Given the description of an element on the screen output the (x, y) to click on. 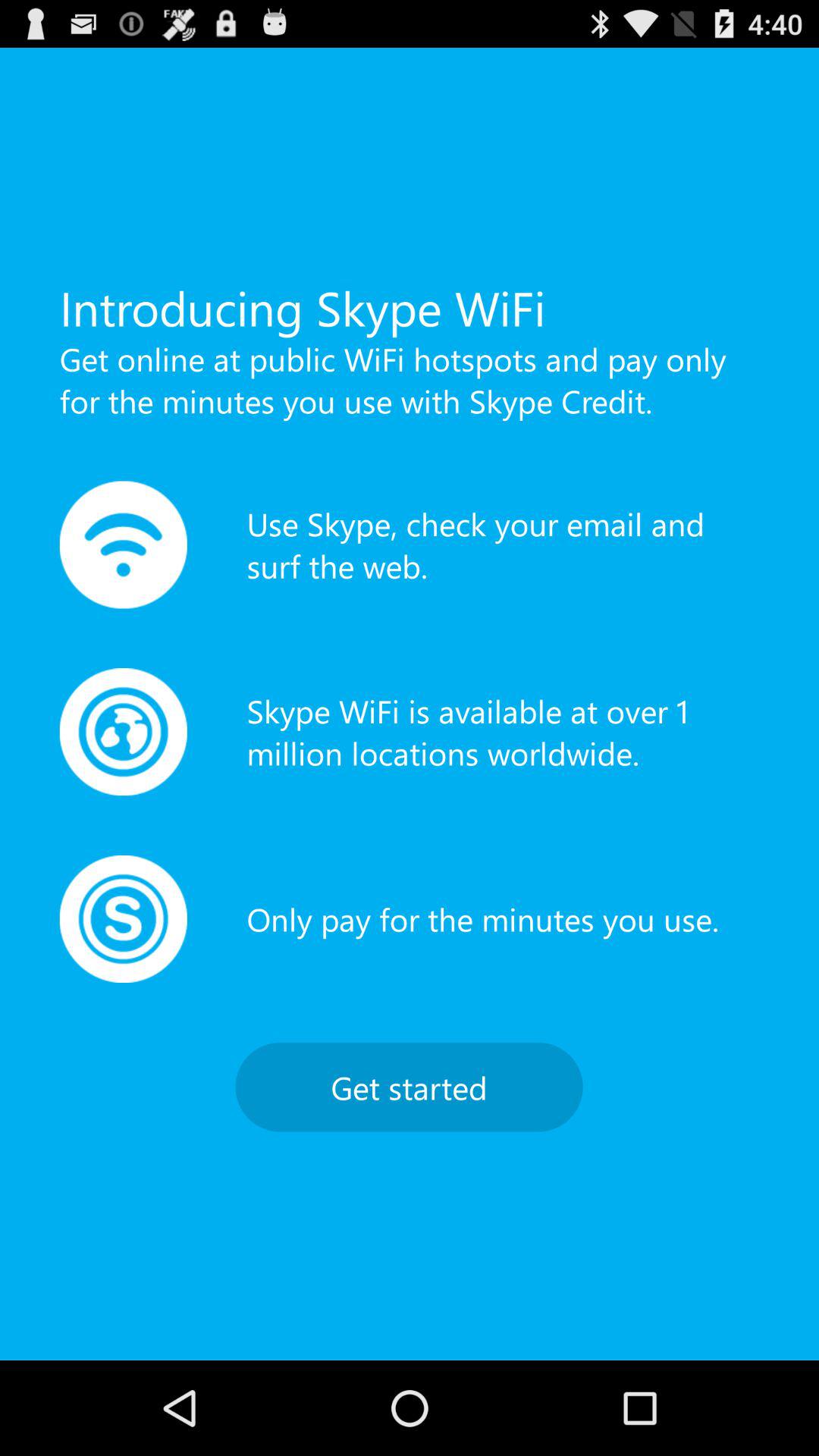
tap get started (408, 1086)
